Given the description of an element on the screen output the (x, y) to click on. 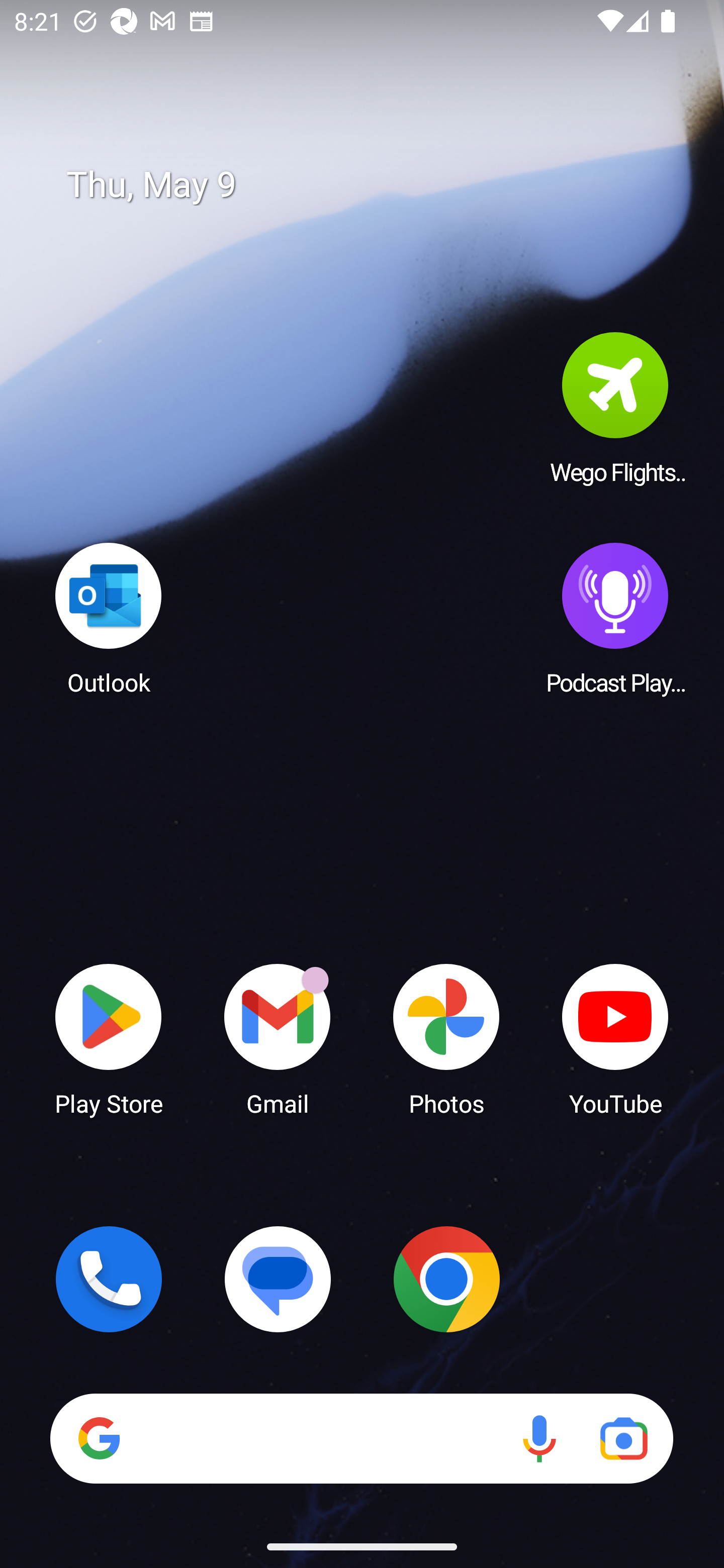
Thu, May 9 (375, 184)
Wego Flights & Hotels (615, 407)
Outlook (108, 617)
Podcast Player (615, 617)
Play Store (108, 1038)
Gmail Gmail has 18 notifications (277, 1038)
Photos (445, 1038)
YouTube (615, 1038)
Phone (108, 1279)
Messages (277, 1279)
Chrome (446, 1279)
Search Voice search Google Lens (361, 1438)
Voice search (539, 1438)
Google Lens (623, 1438)
